Given the description of an element on the screen output the (x, y) to click on. 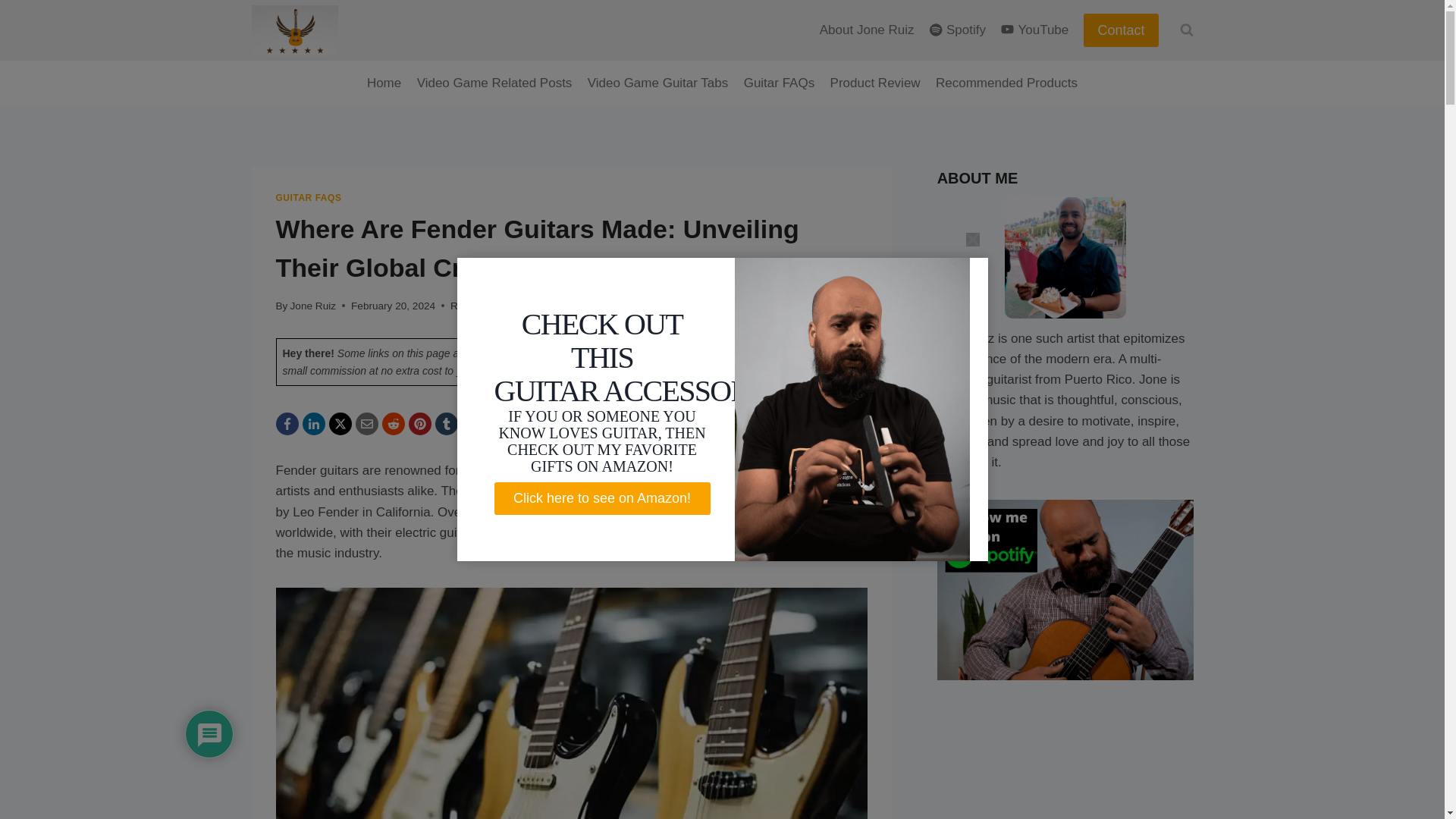
Spotify (956, 30)
Home (384, 83)
Video Game Guitar Tabs (657, 83)
Jone Ruiz (312, 306)
Contact (1120, 29)
GUITAR FAQS (309, 197)
YouTube (1033, 30)
Product Review (874, 83)
About Jone Ruiz (866, 30)
Video Game Related Posts (494, 83)
Recommended Products (1006, 83)
Guitar FAQs (778, 83)
